Given the description of an element on the screen output the (x, y) to click on. 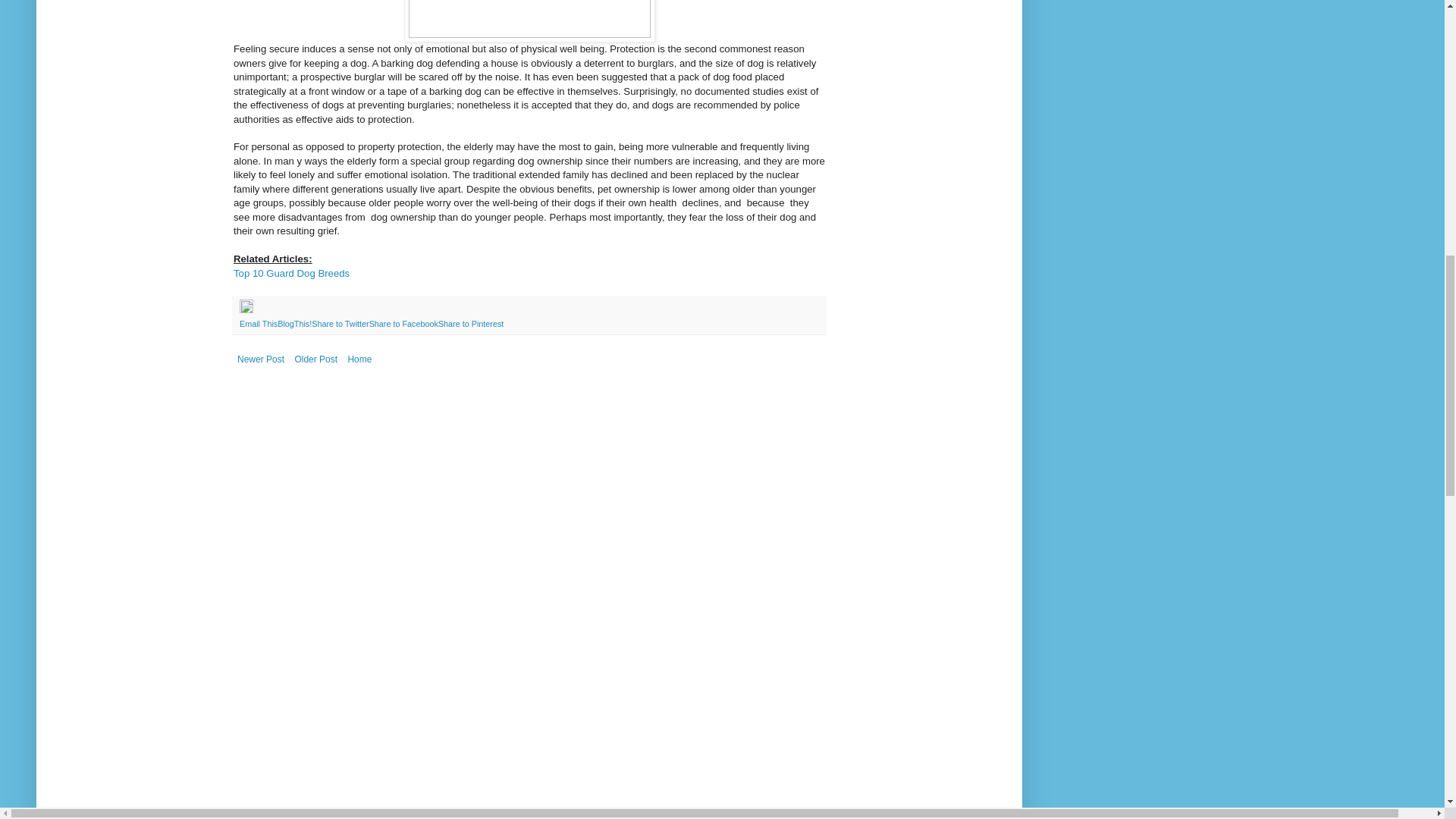
Share to Facebook (403, 323)
Share to Facebook (403, 323)
BlogThis! (294, 323)
Older Post (314, 359)
Newer Post (260, 359)
Top 10 Guard Dog Breeds (290, 273)
Newer Post (260, 359)
Share to Twitter (339, 323)
Share to Twitter (339, 323)
Home (359, 359)
Share to Pinterest (470, 323)
Edit Post (246, 309)
Older Post (314, 359)
Share to Pinterest (470, 323)
BlogThis! (294, 323)
